Given the description of an element on the screen output the (x, y) to click on. 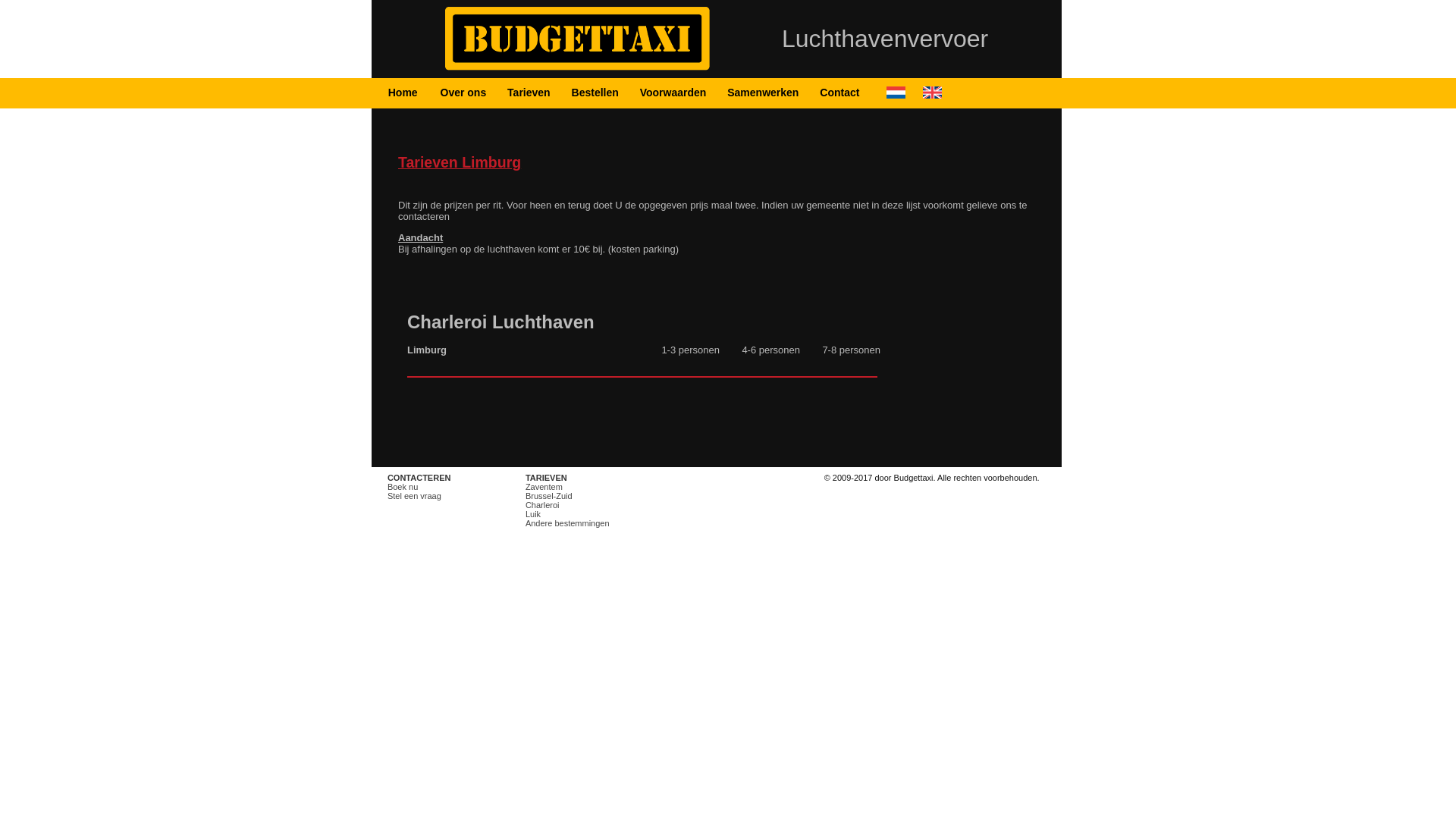
Boek nu Element type: text (402, 486)
Contact Element type: text (839, 92)
Stel een vraag Element type: text (414, 495)
Andere bestemmingen Element type: text (567, 522)
Voorwaarden Element type: text (673, 92)
Bestellen Element type: text (595, 92)
Over ons Element type: text (463, 92)
Luik Element type: text (532, 513)
Charleroi Element type: text (542, 504)
Zaventem Element type: text (543, 486)
Tarieven Element type: text (528, 92)
Brussel-Zuid Element type: text (548, 495)
Samenwerken Element type: text (762, 92)
Home Element type: text (402, 92)
